Given the description of an element on the screen output the (x, y) to click on. 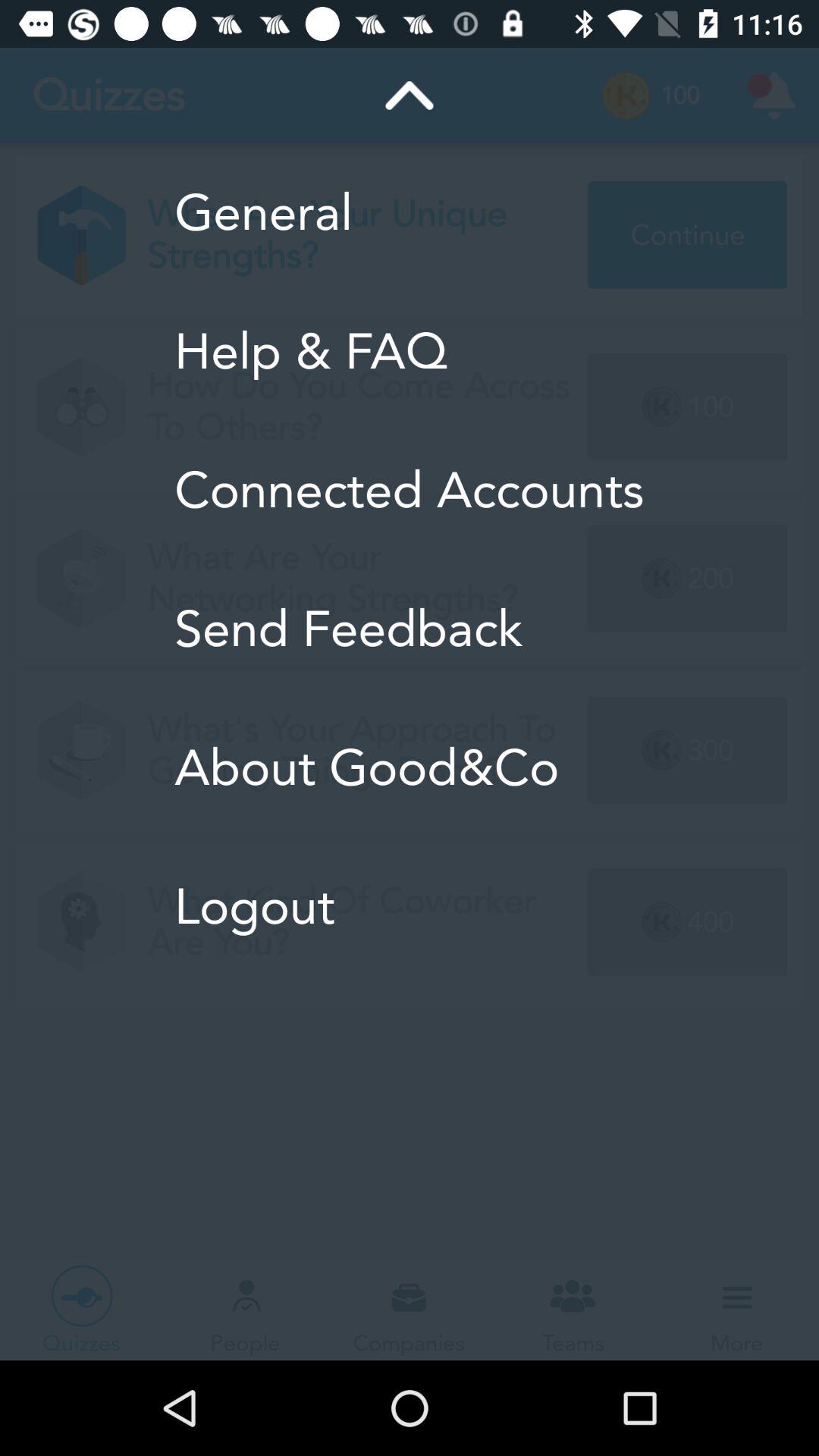
choose the general icon (408, 212)
